Given the description of an element on the screen output the (x, y) to click on. 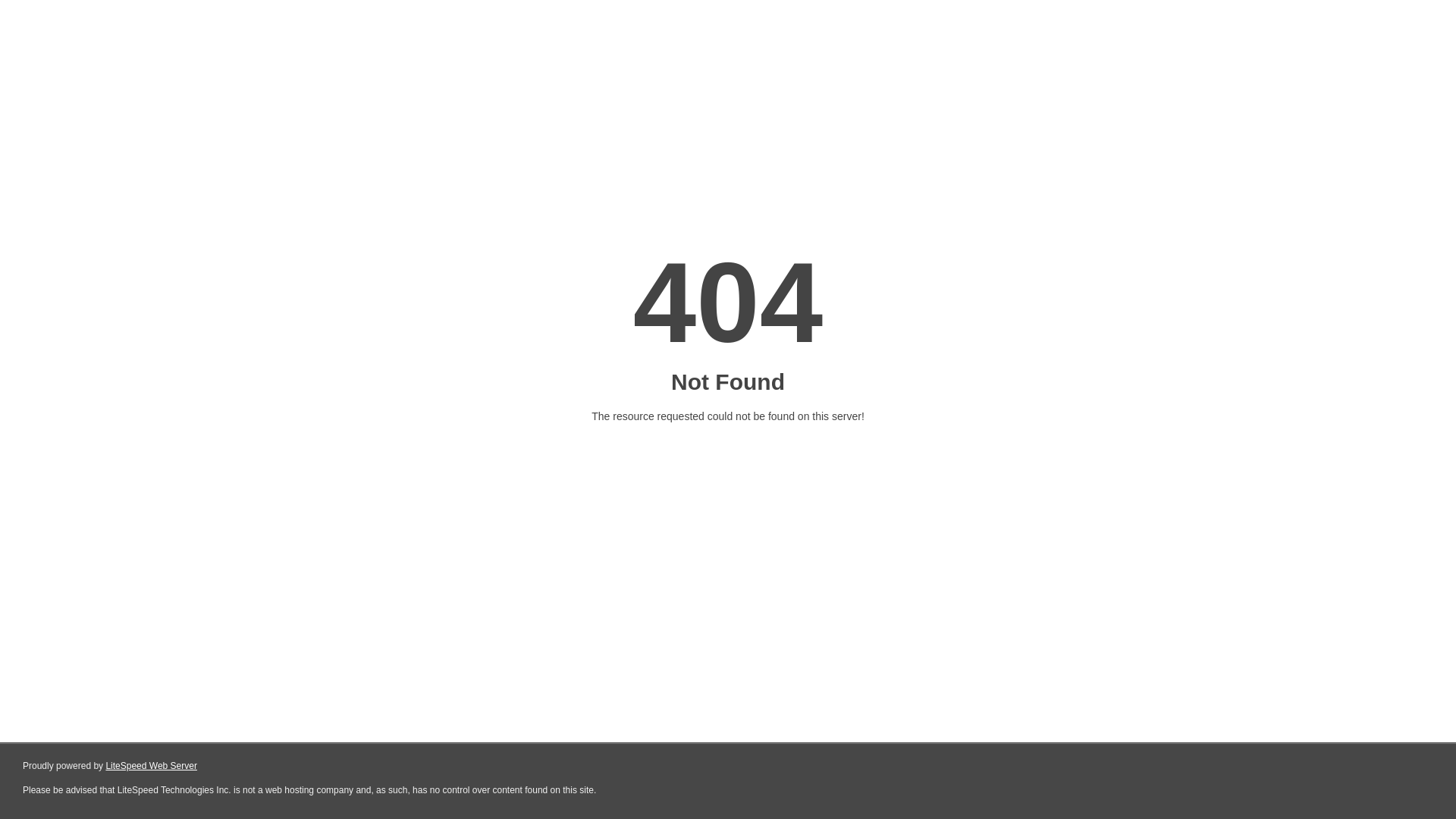
LiteSpeed Web Server Element type: text (151, 765)
